Given the description of an element on the screen output the (x, y) to click on. 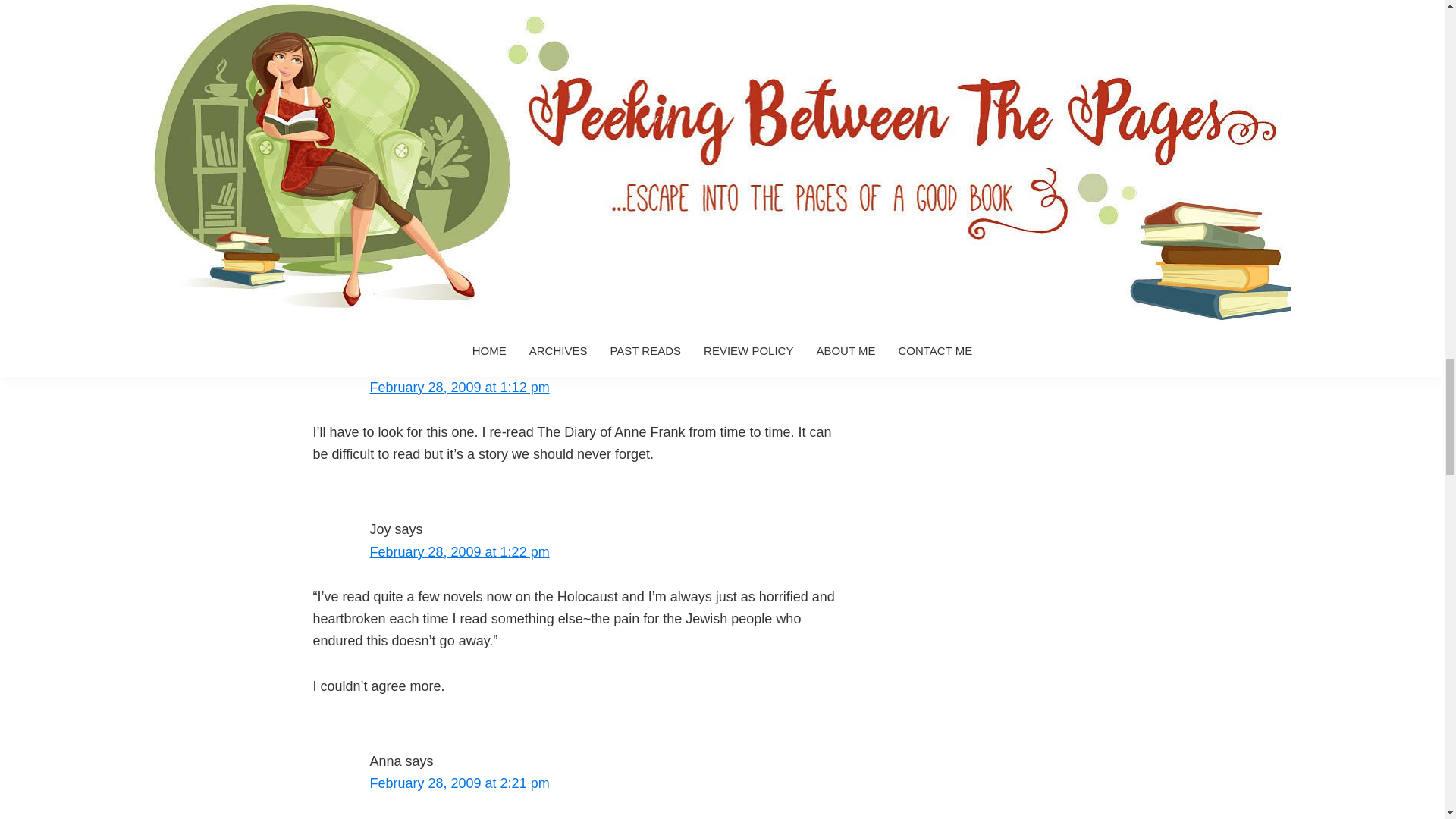
February 28, 2009 at 11:11 am (463, 200)
February 28, 2009 at 1:12 pm (459, 387)
February 28, 2009 at 1:22 pm (459, 551)
February 28, 2009 at 2:21 pm (459, 783)
